Given the description of an element on the screen output the (x, y) to click on. 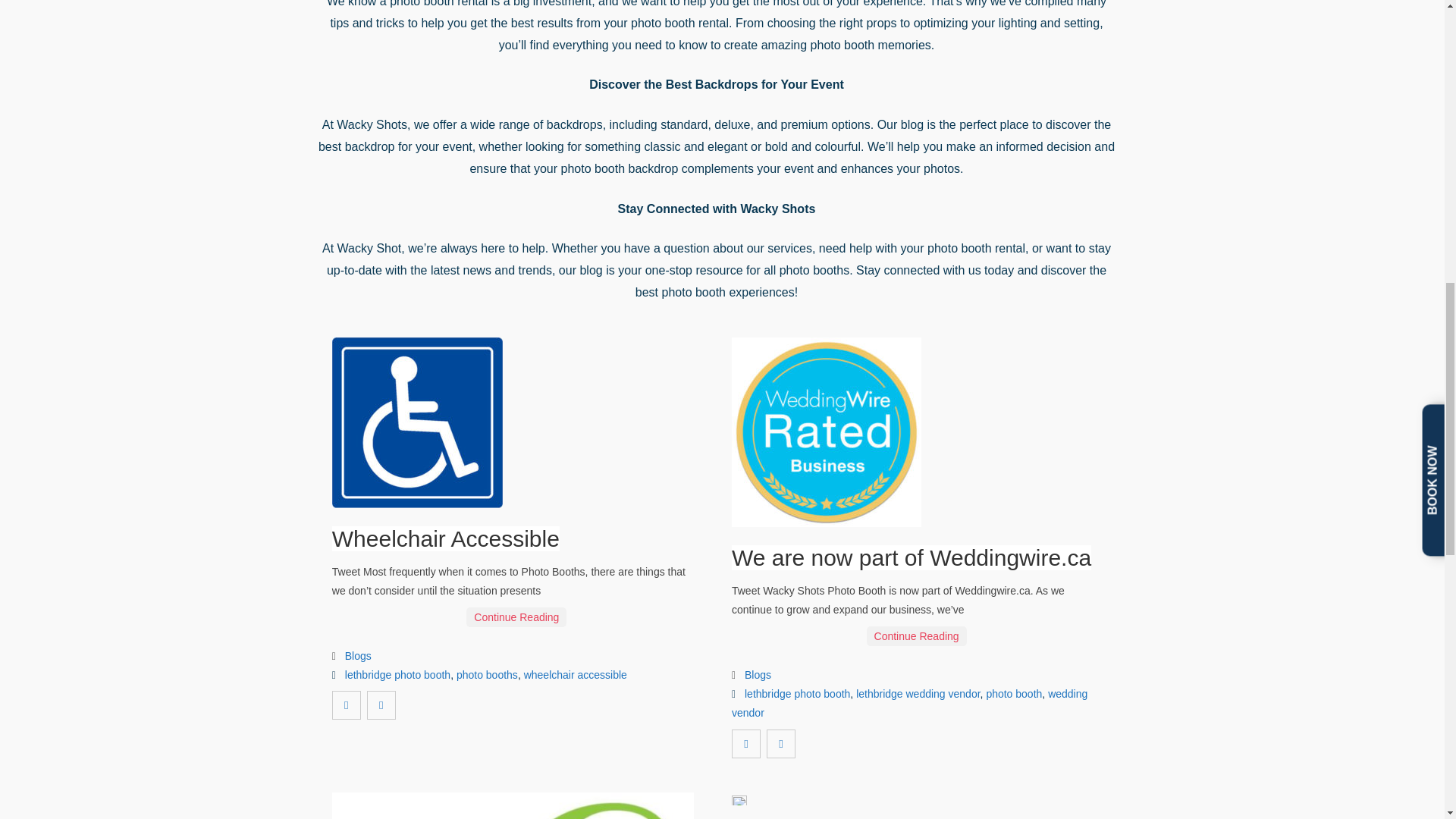
Continue Reading (515, 617)
We are now part of Weddingwire.ca (911, 556)
photo booths (487, 674)
Blogs (358, 655)
Wheelchair Accessible (445, 538)
lethbridge photo booth (397, 674)
Continue Reading (916, 636)
wheelchair accessible (575, 674)
